Given the description of an element on the screen output the (x, y) to click on. 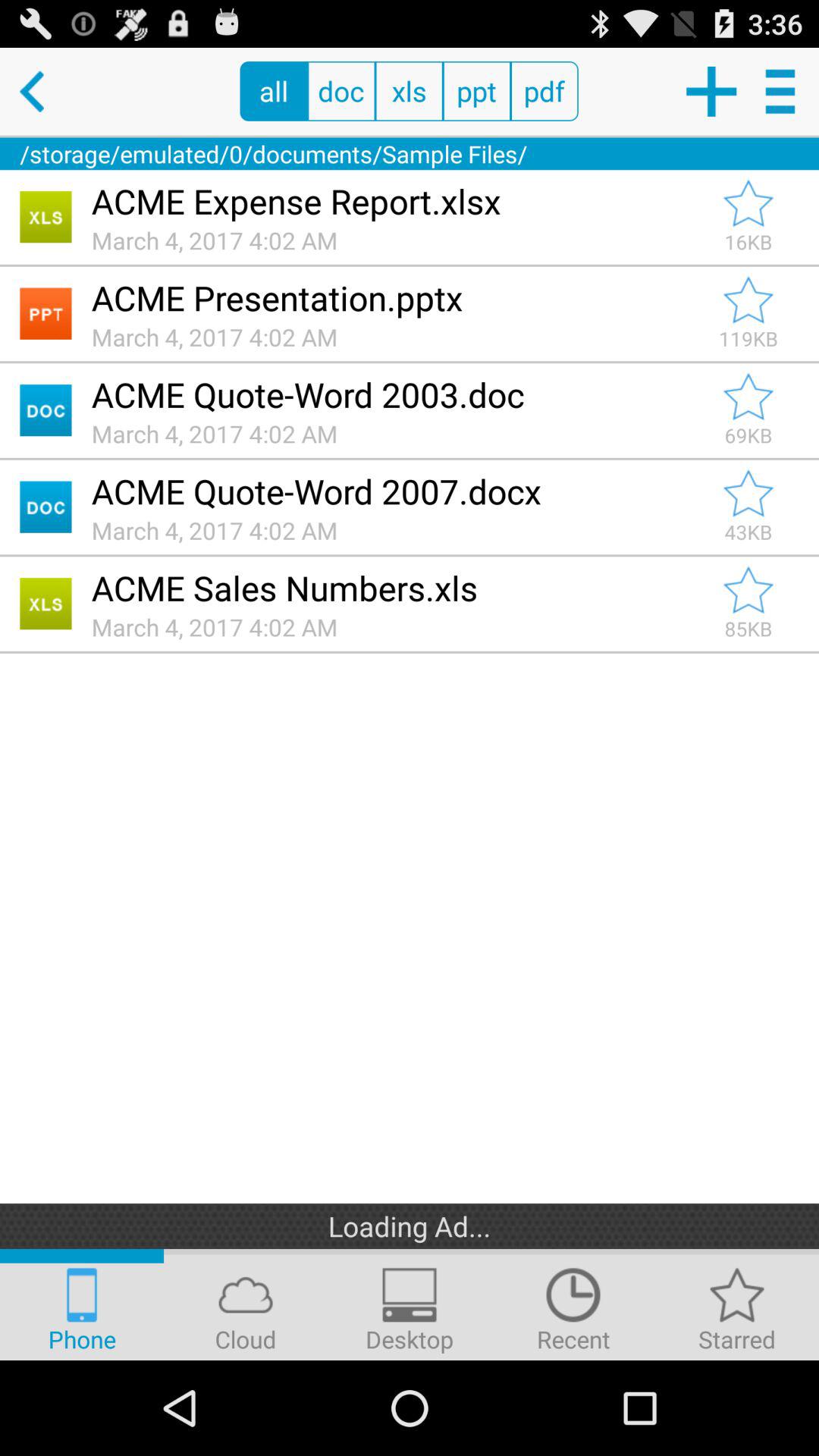
bookmark element (748, 203)
